Given the description of an element on the screen output the (x, y) to click on. 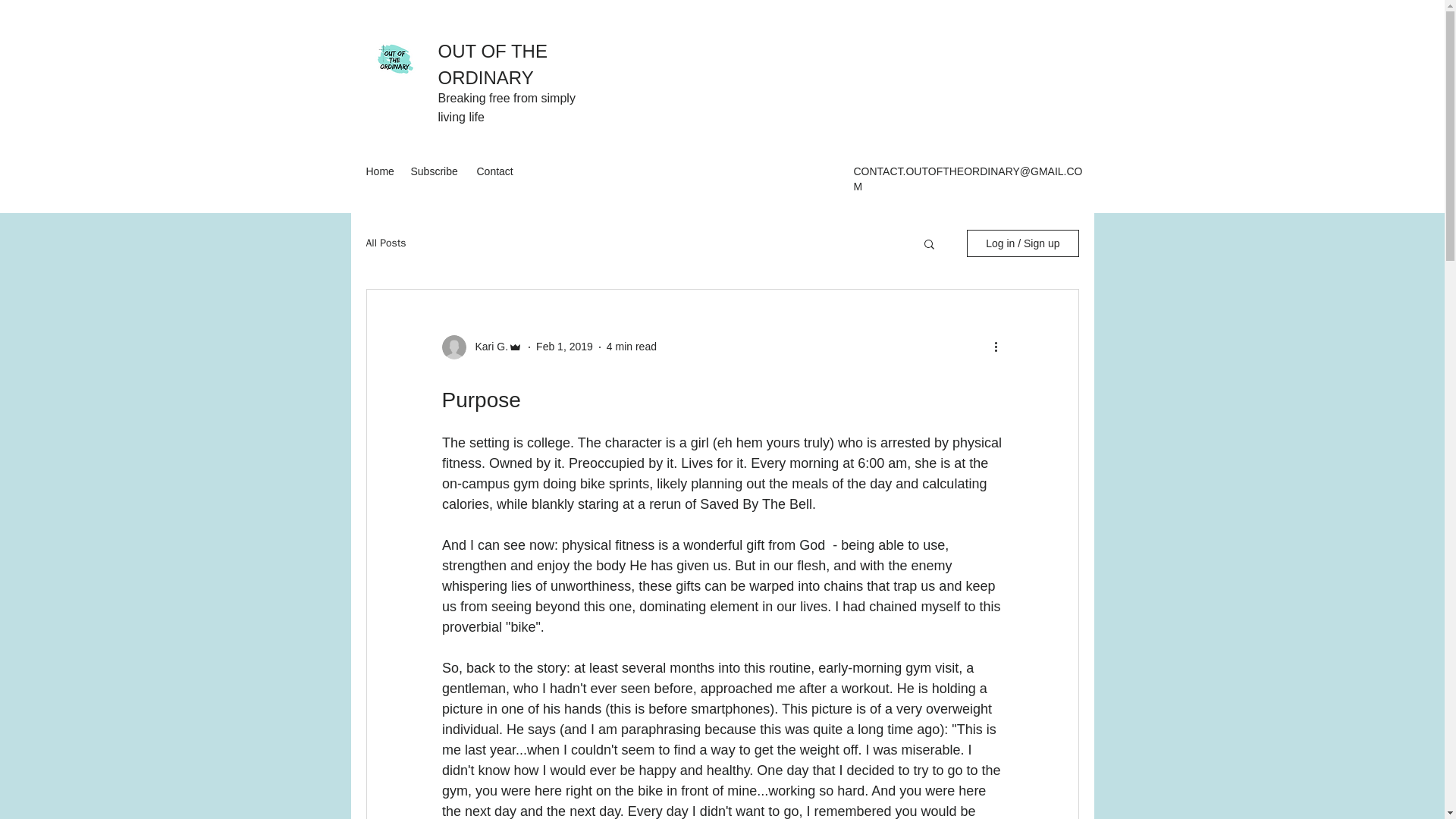
Subscribe (435, 170)
4 min read (631, 346)
Feb 1, 2019 (563, 346)
Kari G. (486, 346)
Home (380, 170)
All Posts (385, 243)
Contact (495, 170)
